Given the description of an element on the screen output the (x, y) to click on. 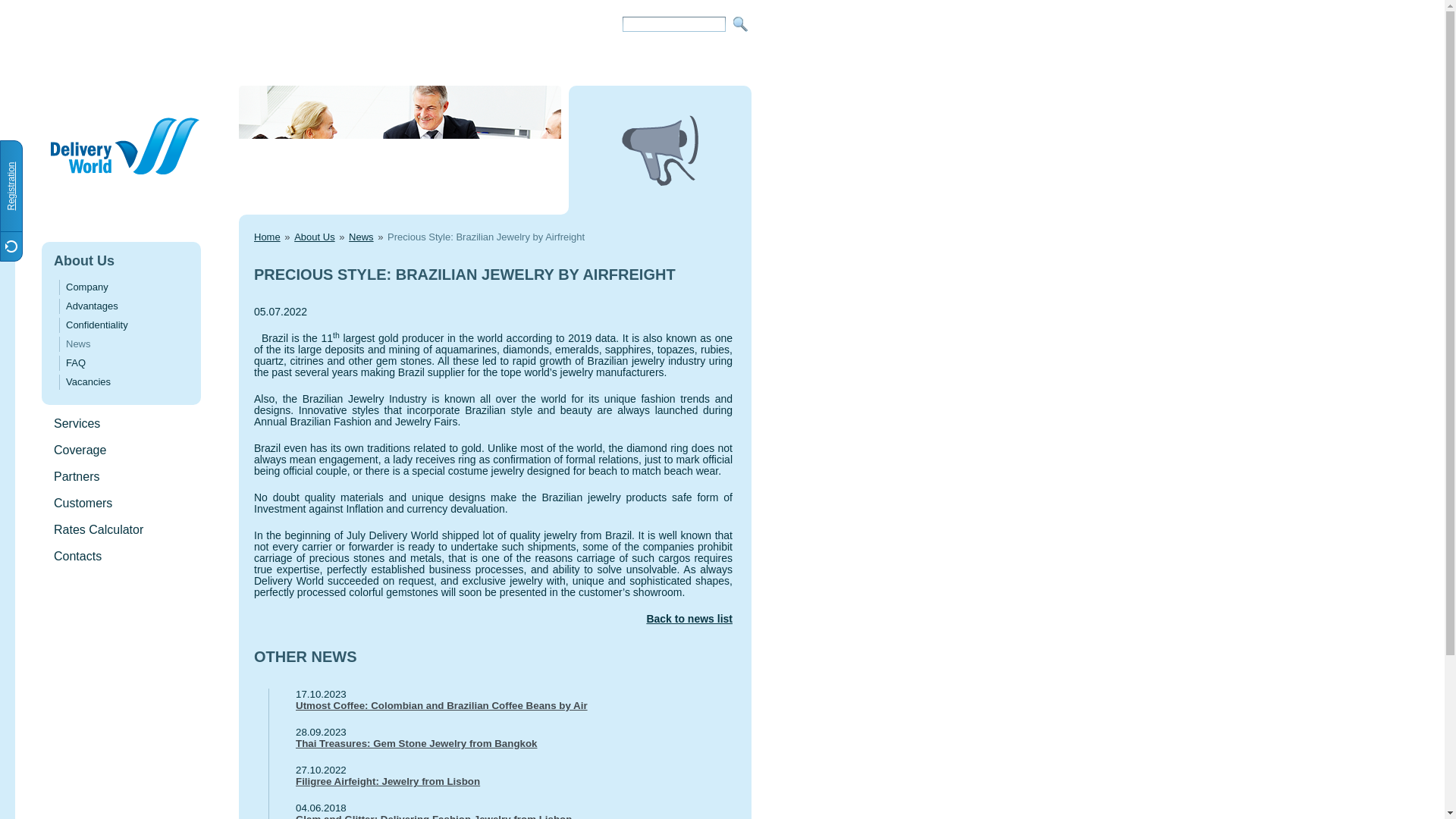
News (77, 343)
News (361, 236)
FAQ (75, 362)
Filigree Airfeight: Jewelry from Lisbon (500, 781)
Company (86, 286)
About Us (314, 236)
Partners (76, 476)
Glam and Glitter: Delivering Fashion Jewelry from Lisbon (500, 816)
About Us (84, 260)
Vacancies (87, 381)
